Given the description of an element on the screen output the (x, y) to click on. 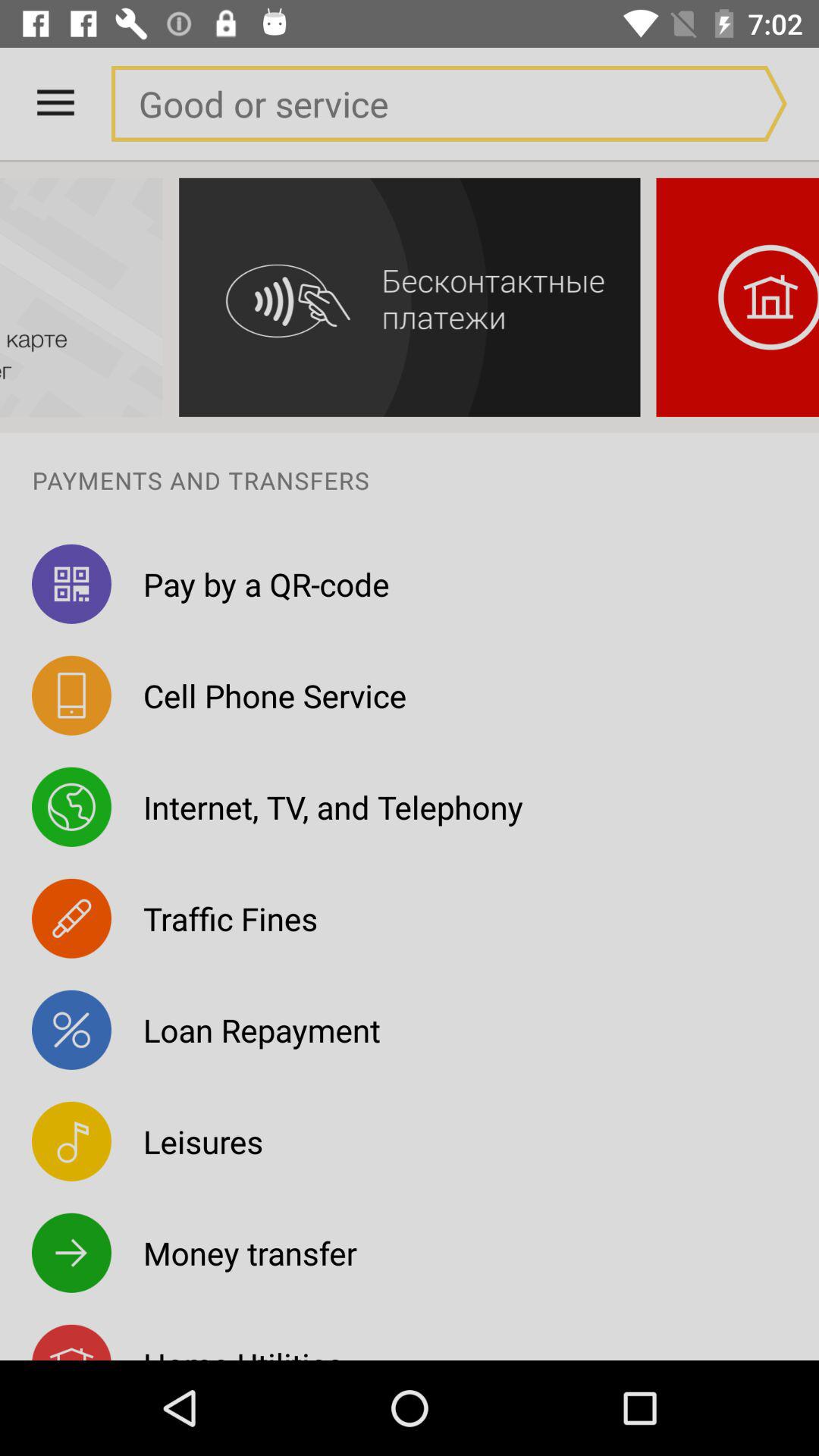
enter search string (417, 103)
